Given the description of an element on the screen output the (x, y) to click on. 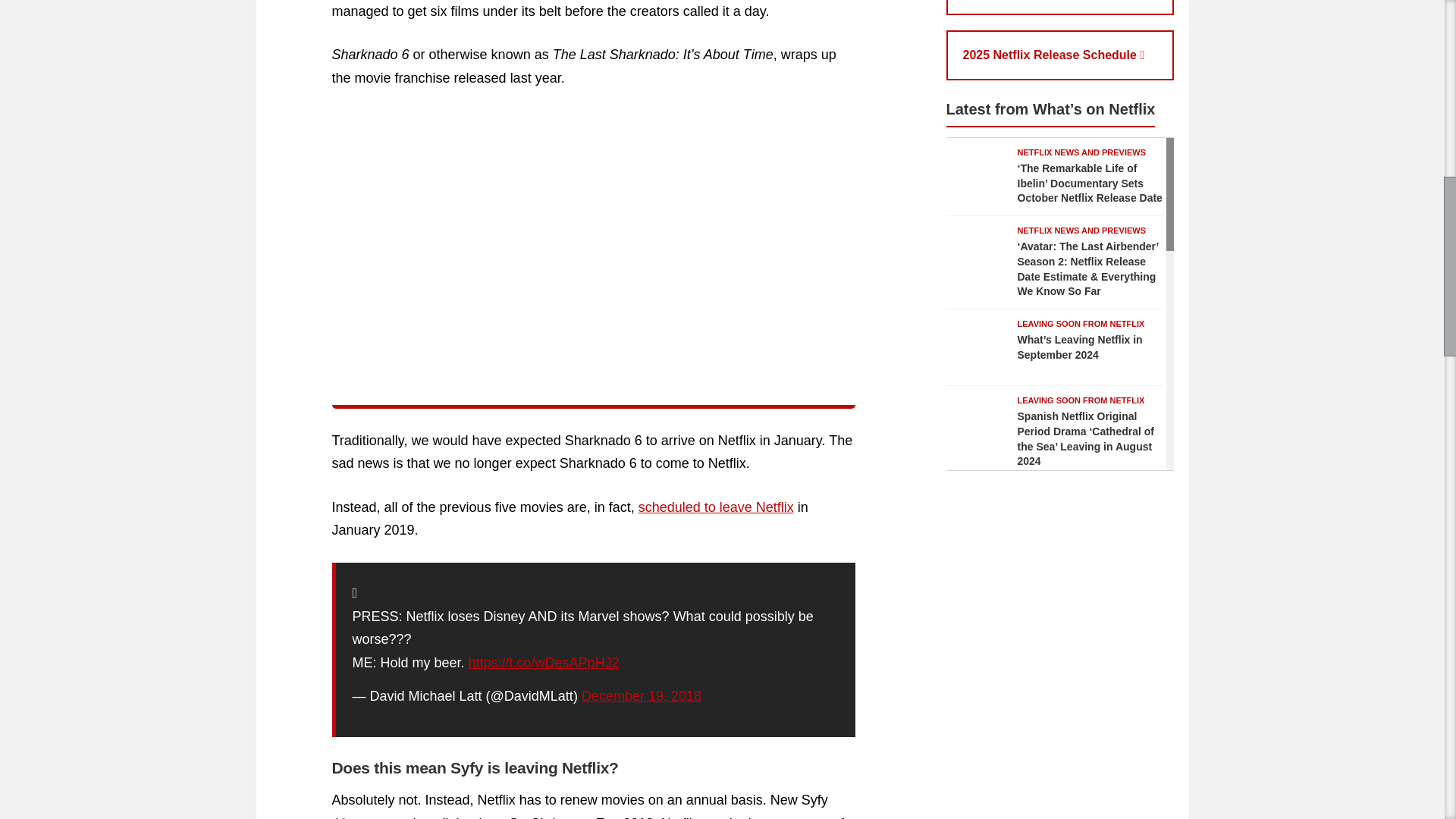
NETFLIX NEWS AND PREVIEWS (1082, 151)
scheduled to leave Netflix (716, 507)
December 19, 2018 (640, 695)
2025 Netflix Release Schedule (1059, 55)
2025 Netflix Release Schedule (1059, 55)
2024 Netflix Release Schedule (1059, 7)
2024 Netflix Release Schedule (1059, 7)
